Given the description of an element on the screen output the (x, y) to click on. 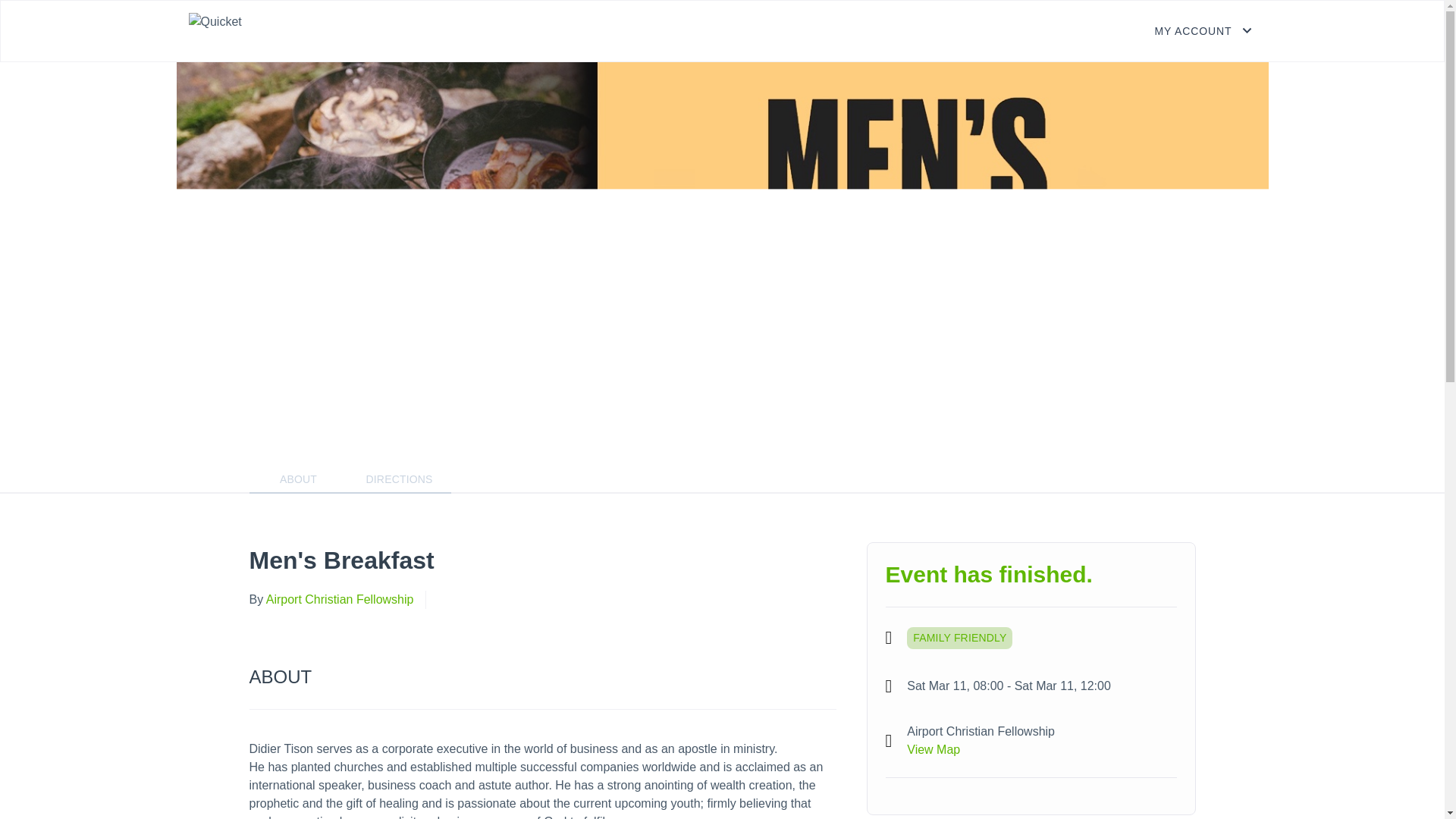
By Airport Christian Fellowship (330, 599)
DIRECTIONS (398, 479)
View Map (933, 748)
MY ACCOUNT (1204, 30)
ABOUT (297, 479)
